Given the description of an element on the screen output the (x, y) to click on. 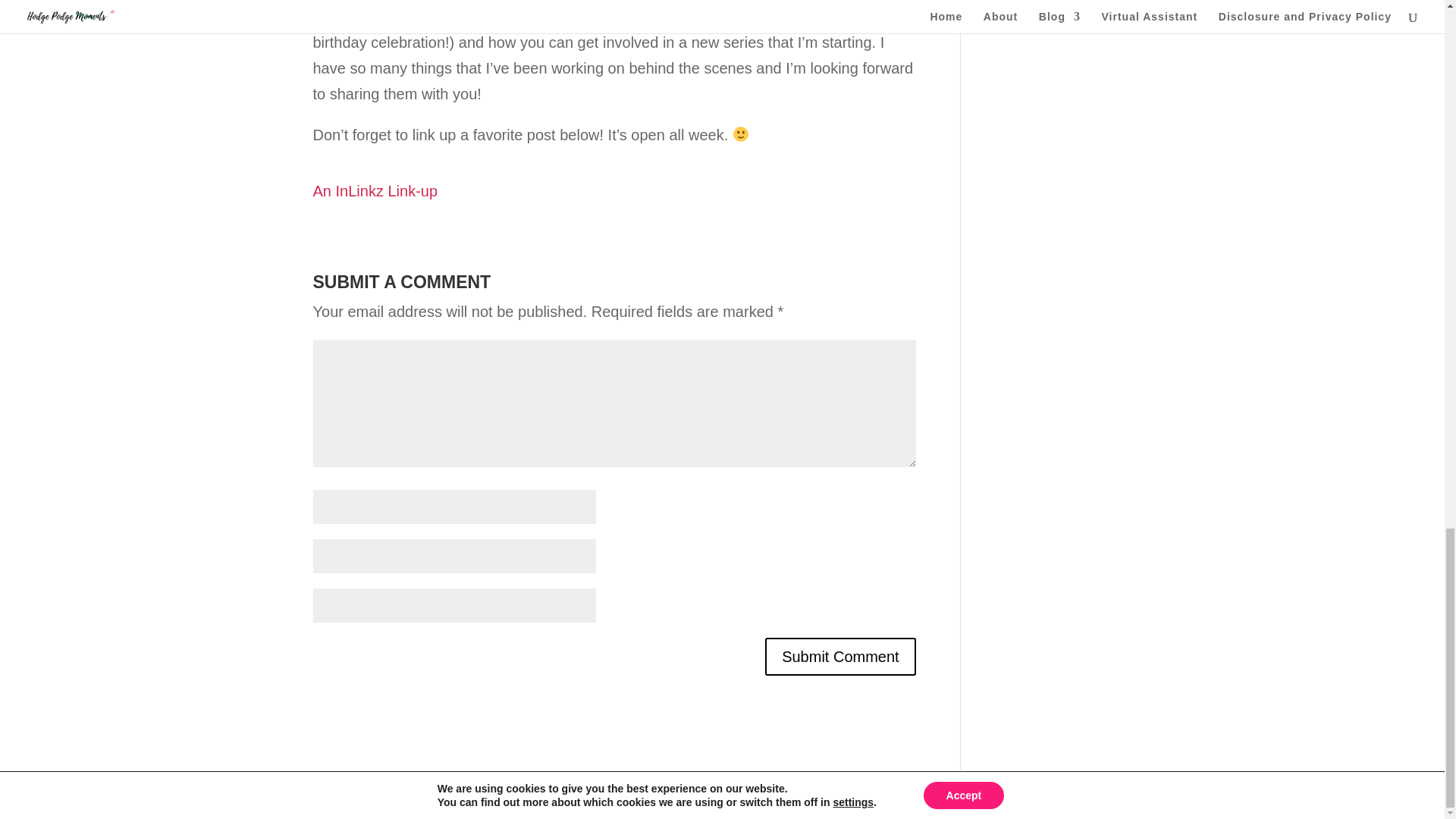
click to view in an external page. (375, 190)
An InLinkz Link-up (375, 190)
Submit Comment (840, 656)
Submit Comment (840, 656)
